Given the description of an element on the screen output the (x, y) to click on. 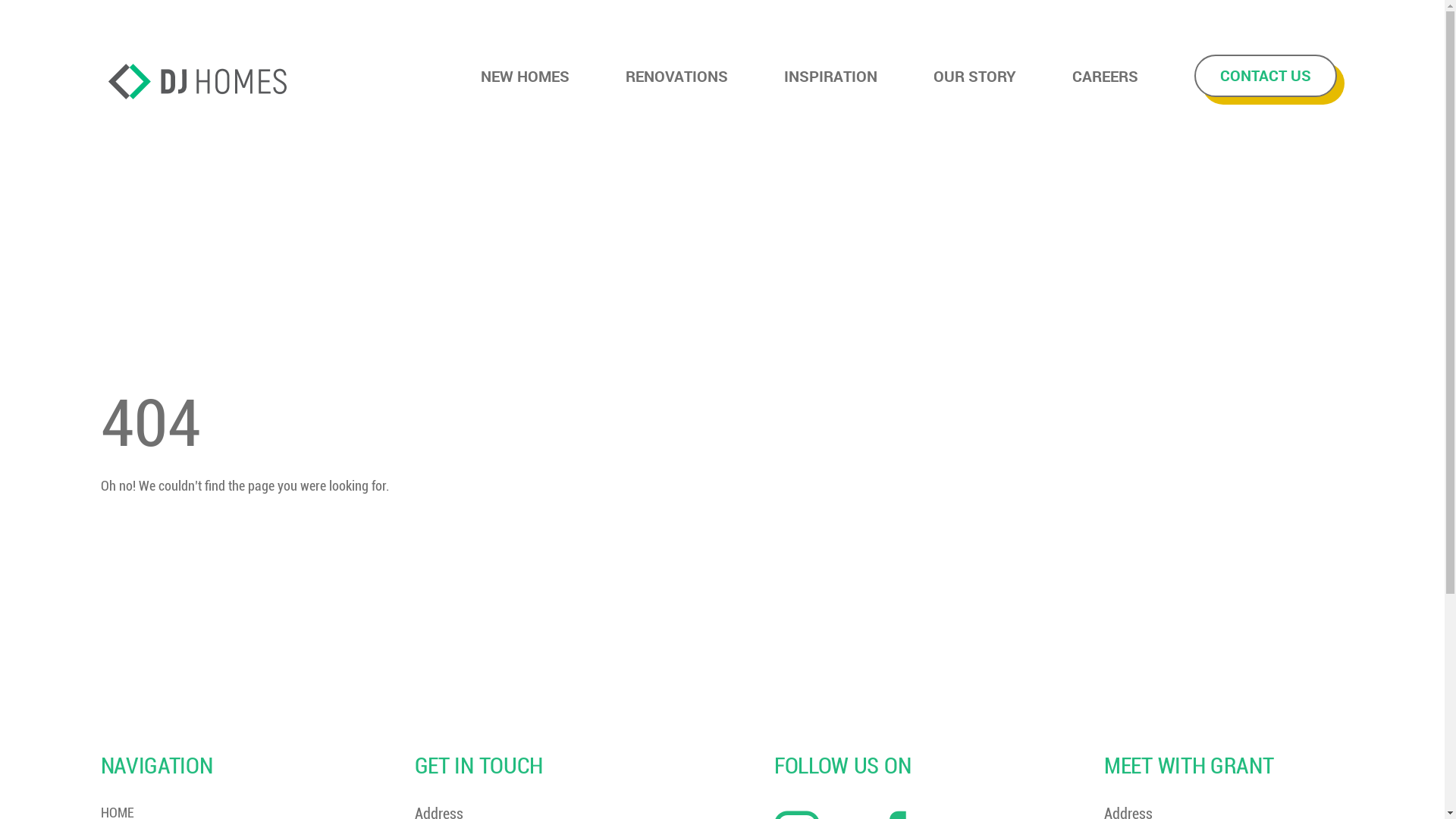
CONTACT US Element type: text (1264, 75)
CAREERS Element type: text (1105, 75)
INSPIRATION Element type: text (830, 75)
NEW HOMES Element type: text (524, 75)
RENOVATIONS Element type: text (675, 75)
OUR STORY Element type: text (973, 75)
